Given the description of an element on the screen output the (x, y) to click on. 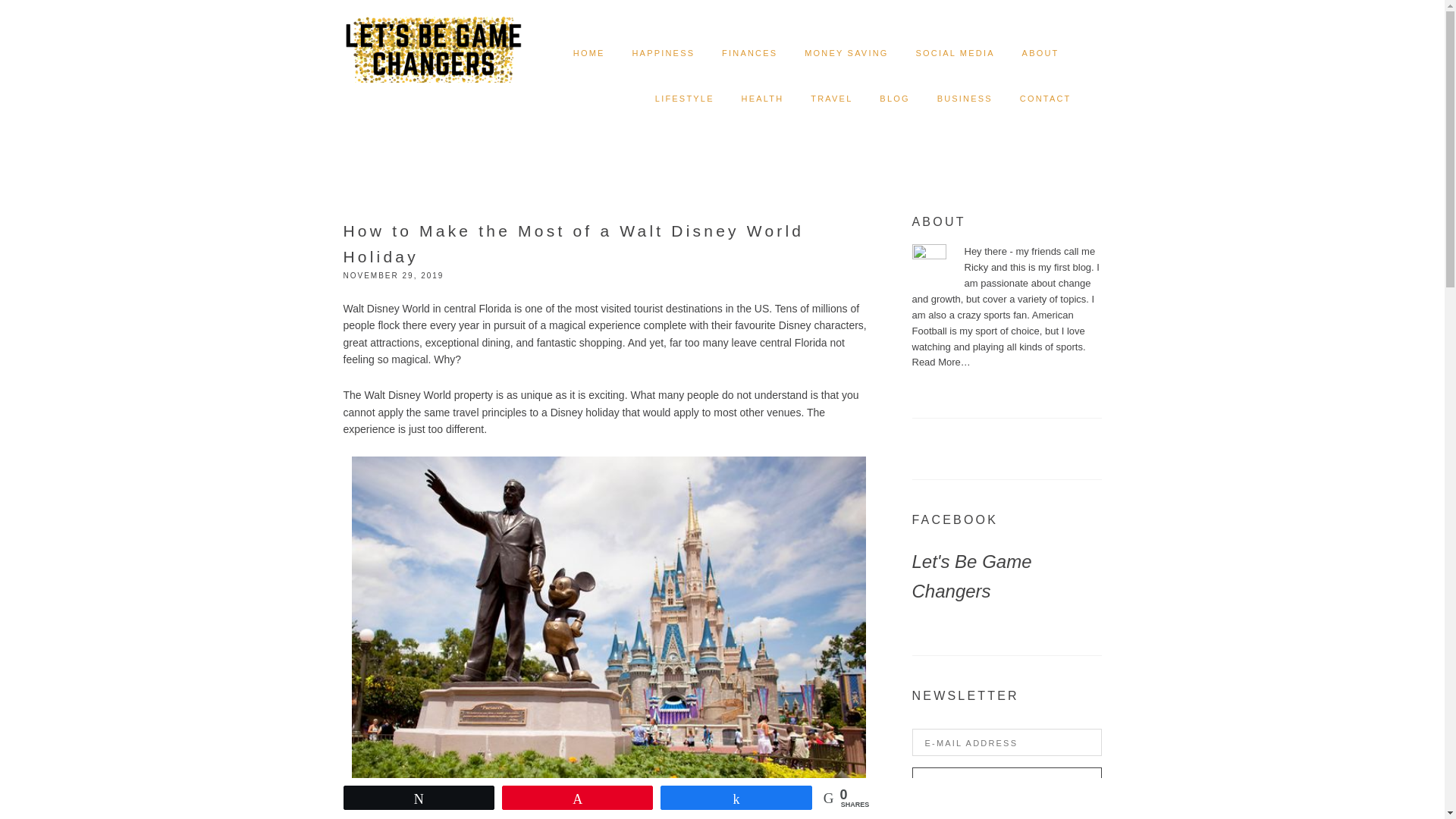
CONTACT (1045, 98)
HEALTH (762, 98)
FINANCES (749, 53)
MONEY SAVING (846, 53)
TRAVEL (830, 98)
HAPPINESS (662, 53)
SOCIAL MEDIA (954, 53)
Go (1005, 783)
LIFESTYLE (684, 98)
BUSINESS (964, 98)
Let's Be Game Changers (970, 576)
LET'S BE GAME CHANGERS (432, 37)
